Given the description of an element on the screen output the (x, y) to click on. 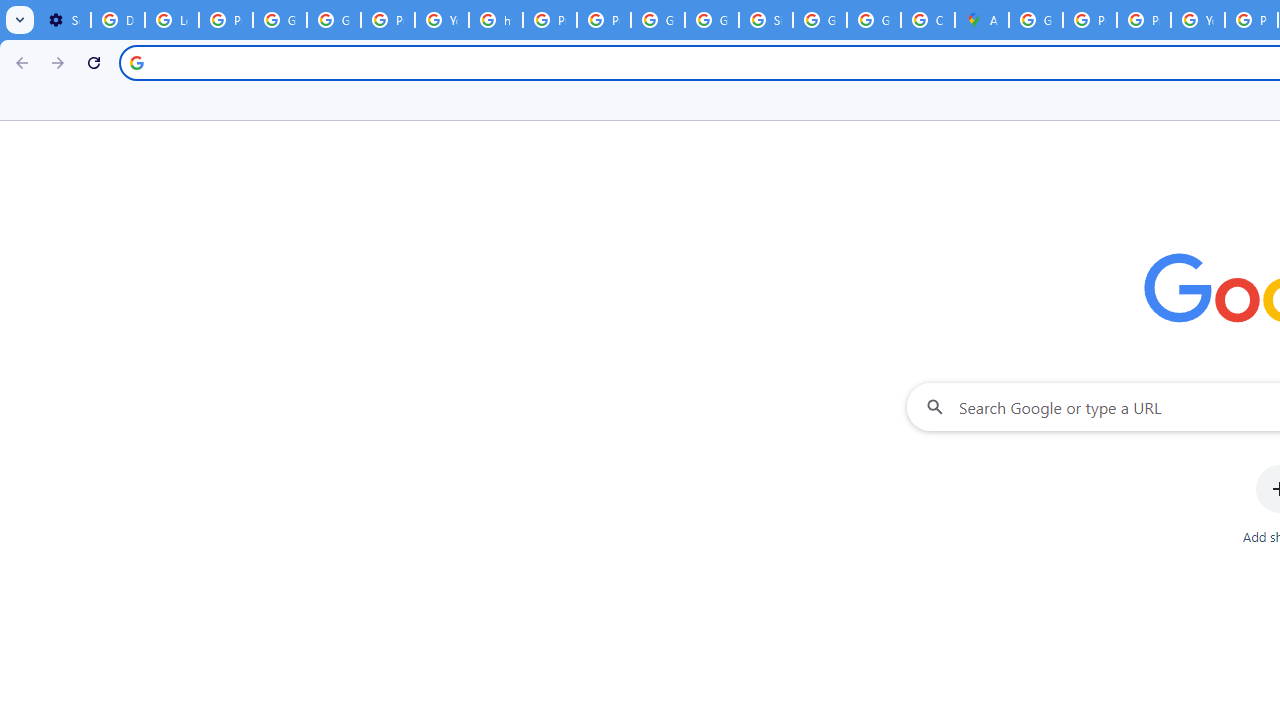
Settings - Performance (63, 20)
Privacy Help Center - Policies Help (550, 20)
Google Account Help (333, 20)
Delete photos & videos - Computer - Google Photos Help (117, 20)
YouTube (1197, 20)
Privacy Help Center - Policies Help (1089, 20)
